Given the description of an element on the screen output the (x, y) to click on. 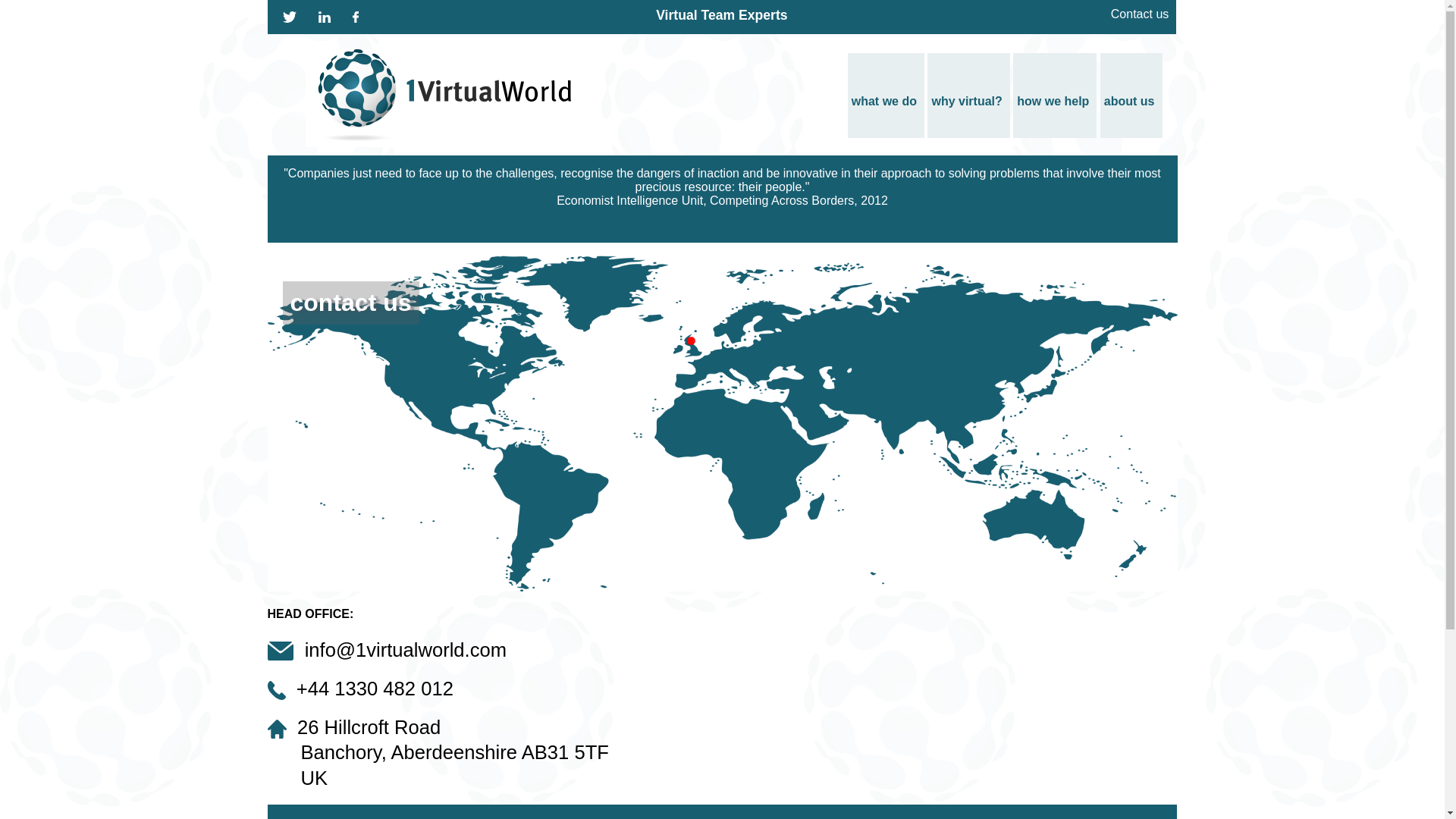
    Element type: text (311, 9)
what we do Element type: text (885, 95)
about us Element type: text (1131, 95)
why virtual? Element type: text (968, 95)
how we help Element type: text (1054, 95)
Contact us Element type: text (1143, 13)
1 Virtual World - Virtual Team Experts Element type: hover (437, 98)
